Given the description of an element on the screen output the (x, y) to click on. 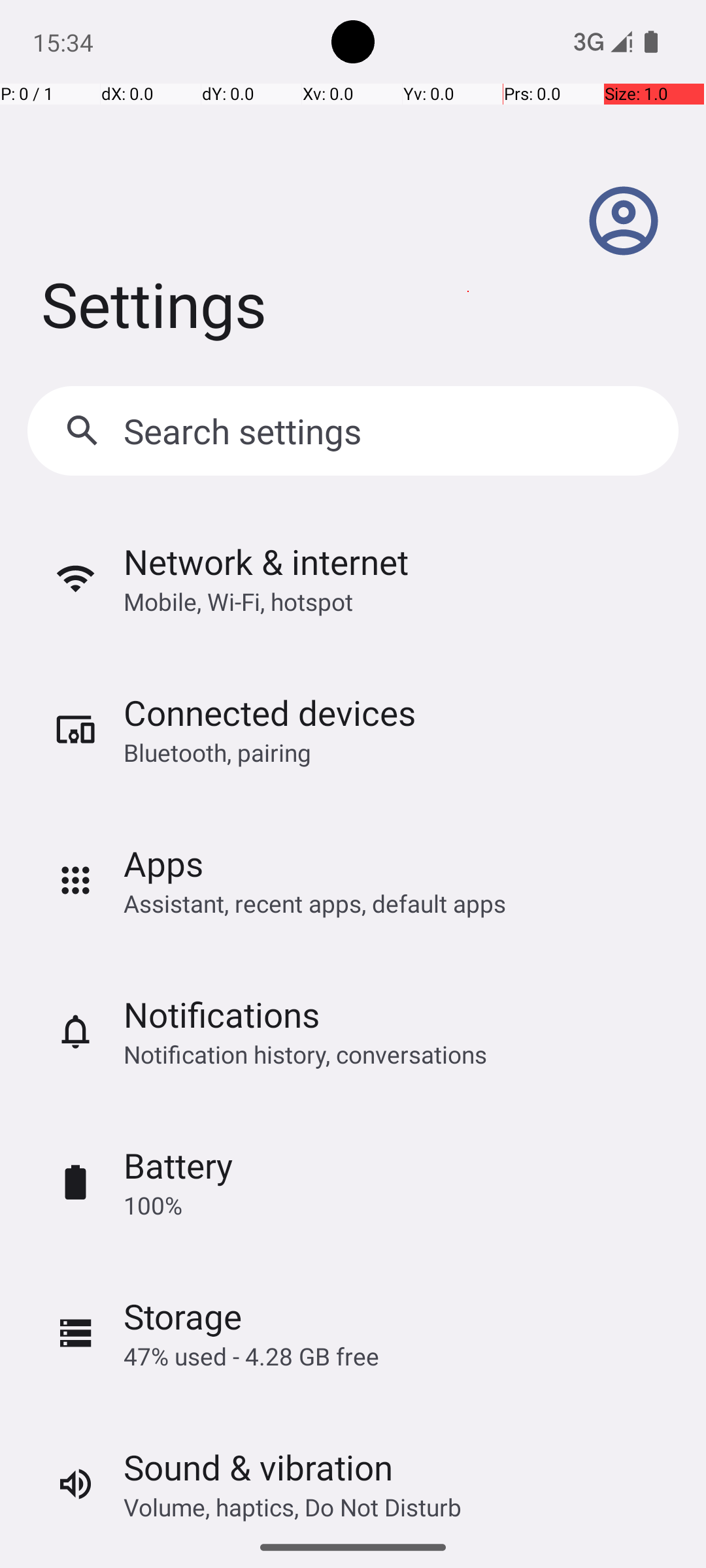
47% used - 4.28 GB free Element type: android.widget.TextView (251, 1355)
